Given the description of an element on the screen output the (x, y) to click on. 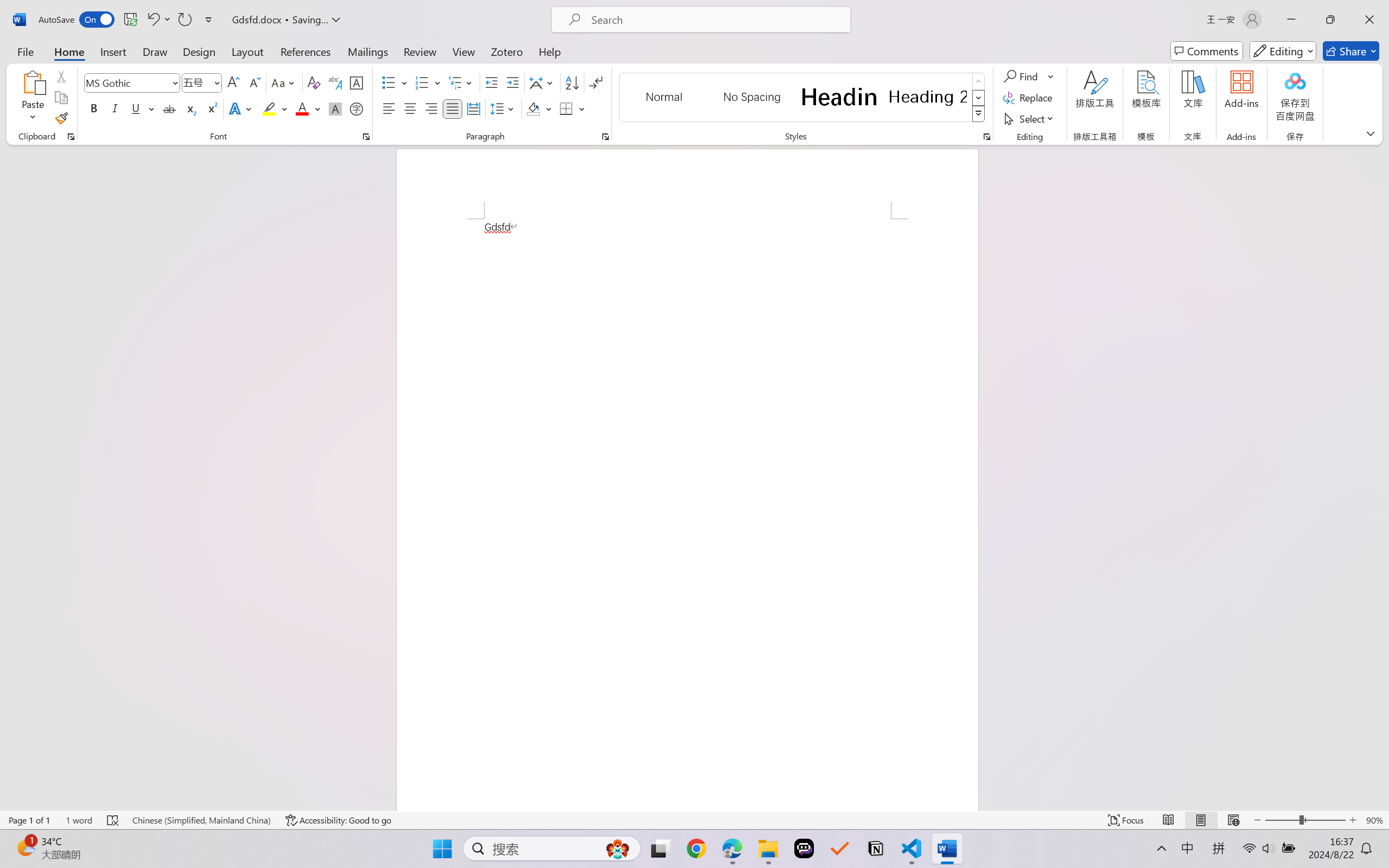
Language Chinese (Simplified, Mainland China) (201, 819)
Spelling and Grammar Check Errors (113, 819)
Format Painter (60, 118)
Clear Formatting (313, 82)
